Given the description of an element on the screen output the (x, y) to click on. 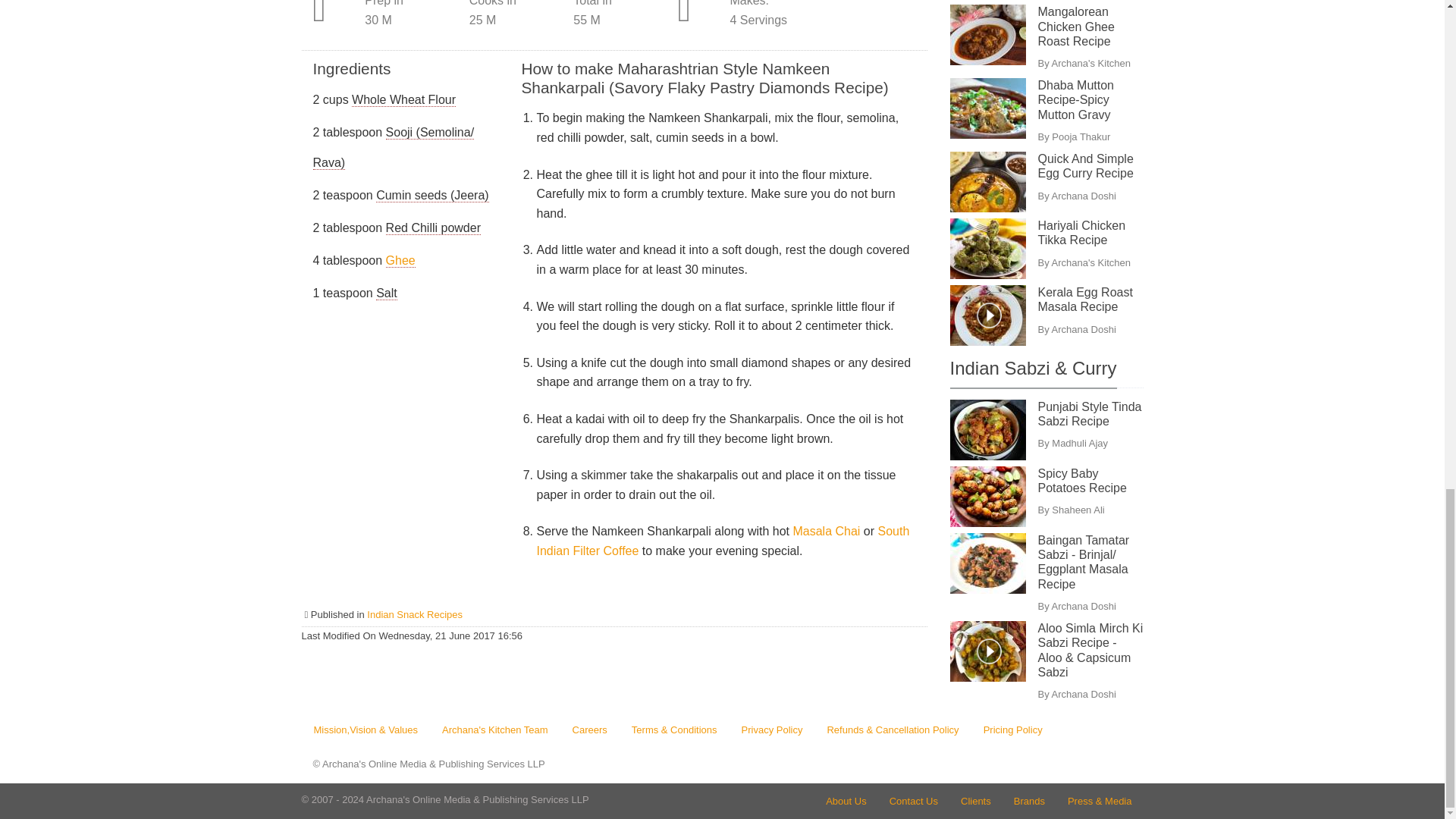
South Indian Filter Coffee  (721, 540)
Ghee (399, 260)
Masala Chai  (827, 530)
Masala Chai Recipe - Indian Spiced Tea (827, 530)
South Indian Filter Coffee (721, 540)
Indian Snack Recipes (414, 614)
